Given the description of an element on the screen output the (x, y) to click on. 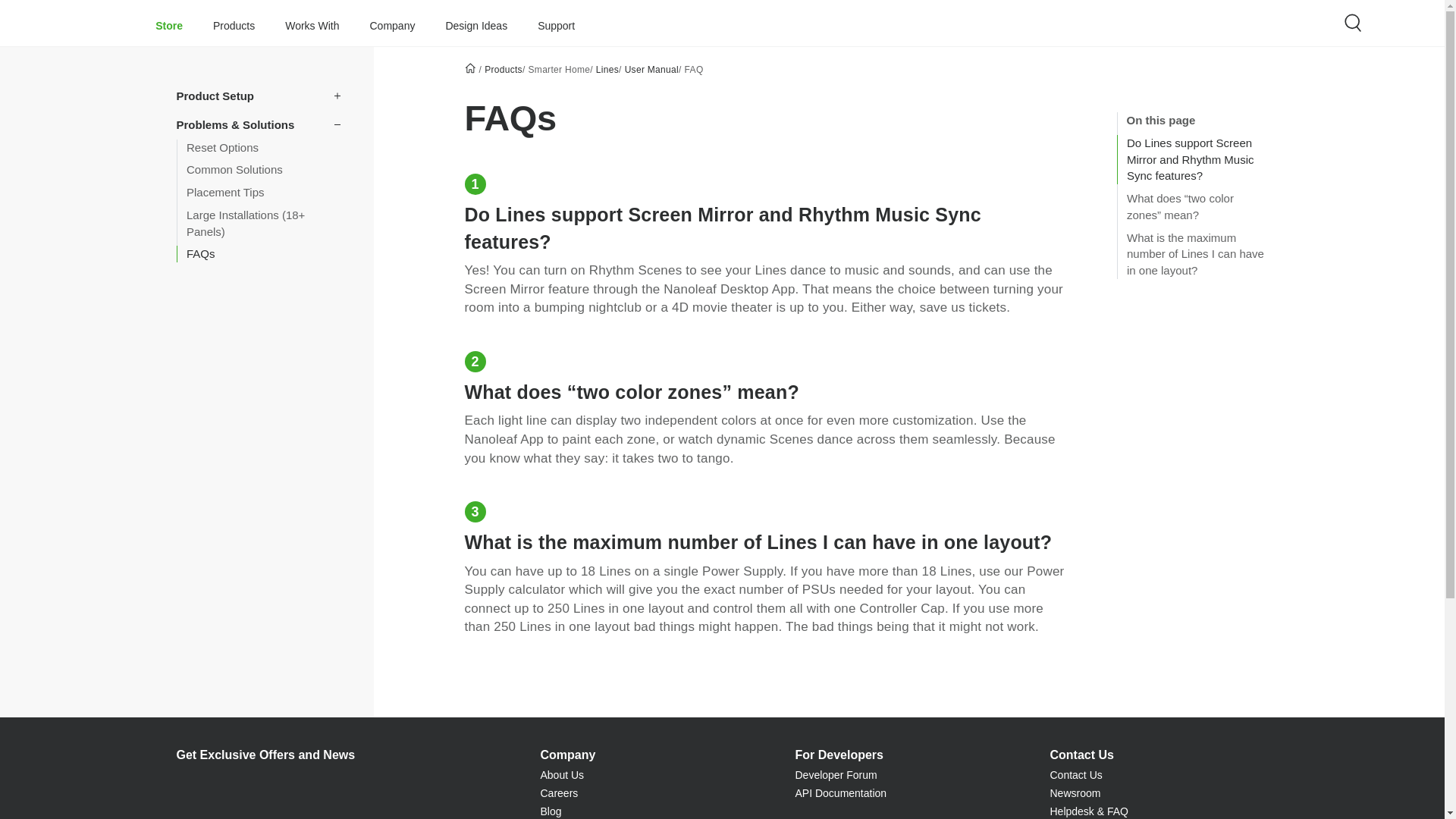
Design Ideas (475, 22)
Works With (312, 22)
Products (233, 22)
Company (391, 22)
